Given the description of an element on the screen output the (x, y) to click on. 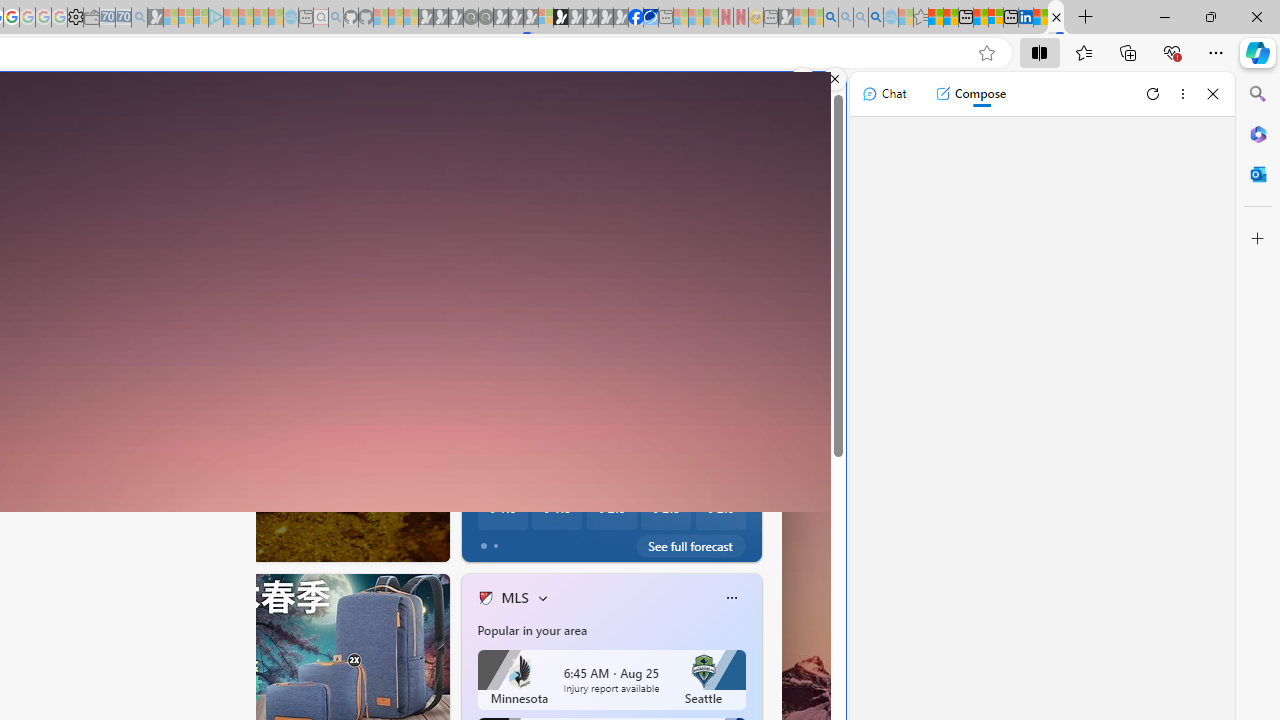
View comments 6 Comment (568, 541)
AutomationID: tab-13 (73, 542)
My location (553, 281)
View comments 18 Comment (574, 541)
View comments 543 Comment (567, 541)
